Given the description of an element on the screen output the (x, y) to click on. 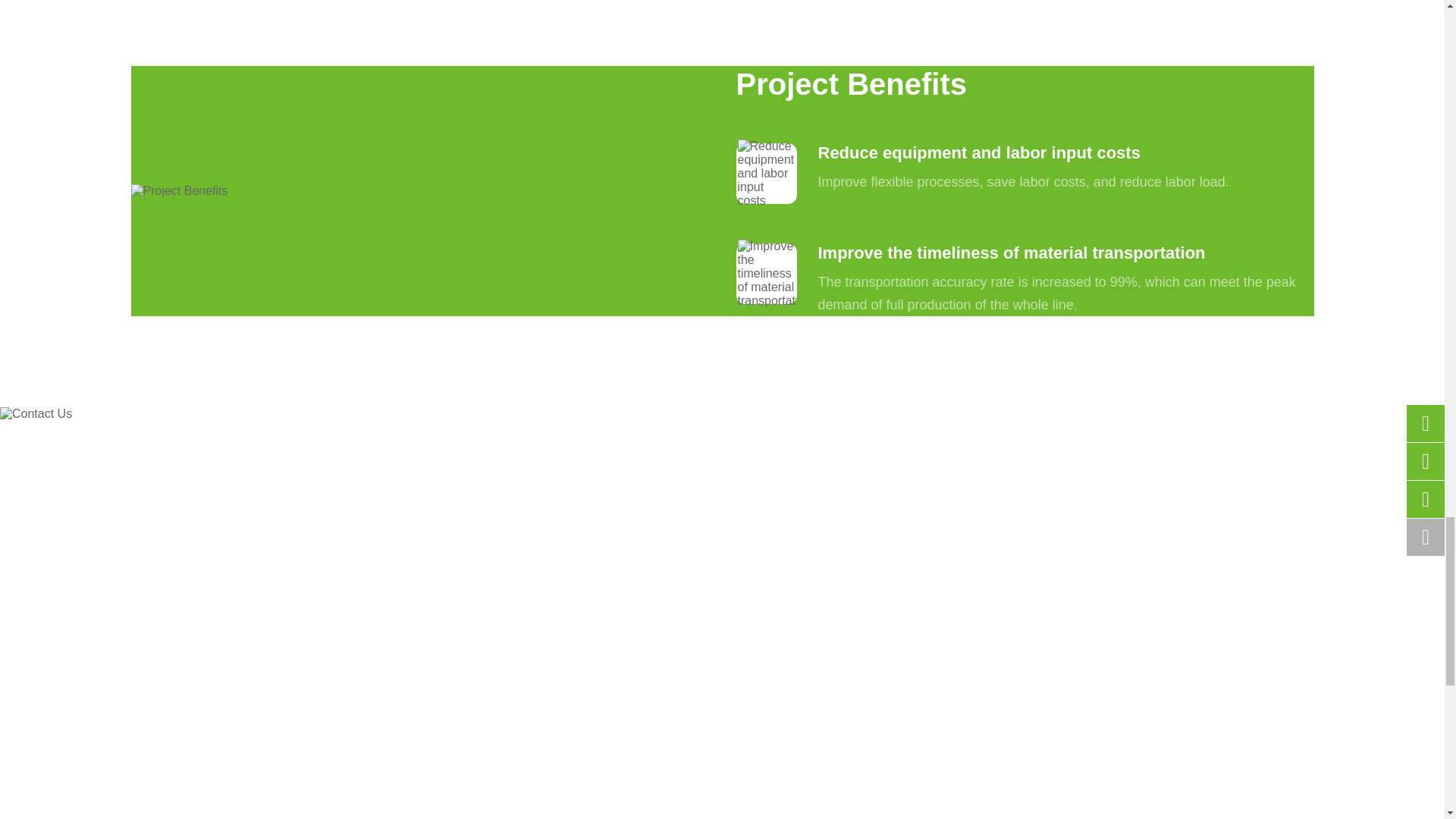
Project Benefits (179, 191)
